Given the description of an element on the screen output the (x, y) to click on. 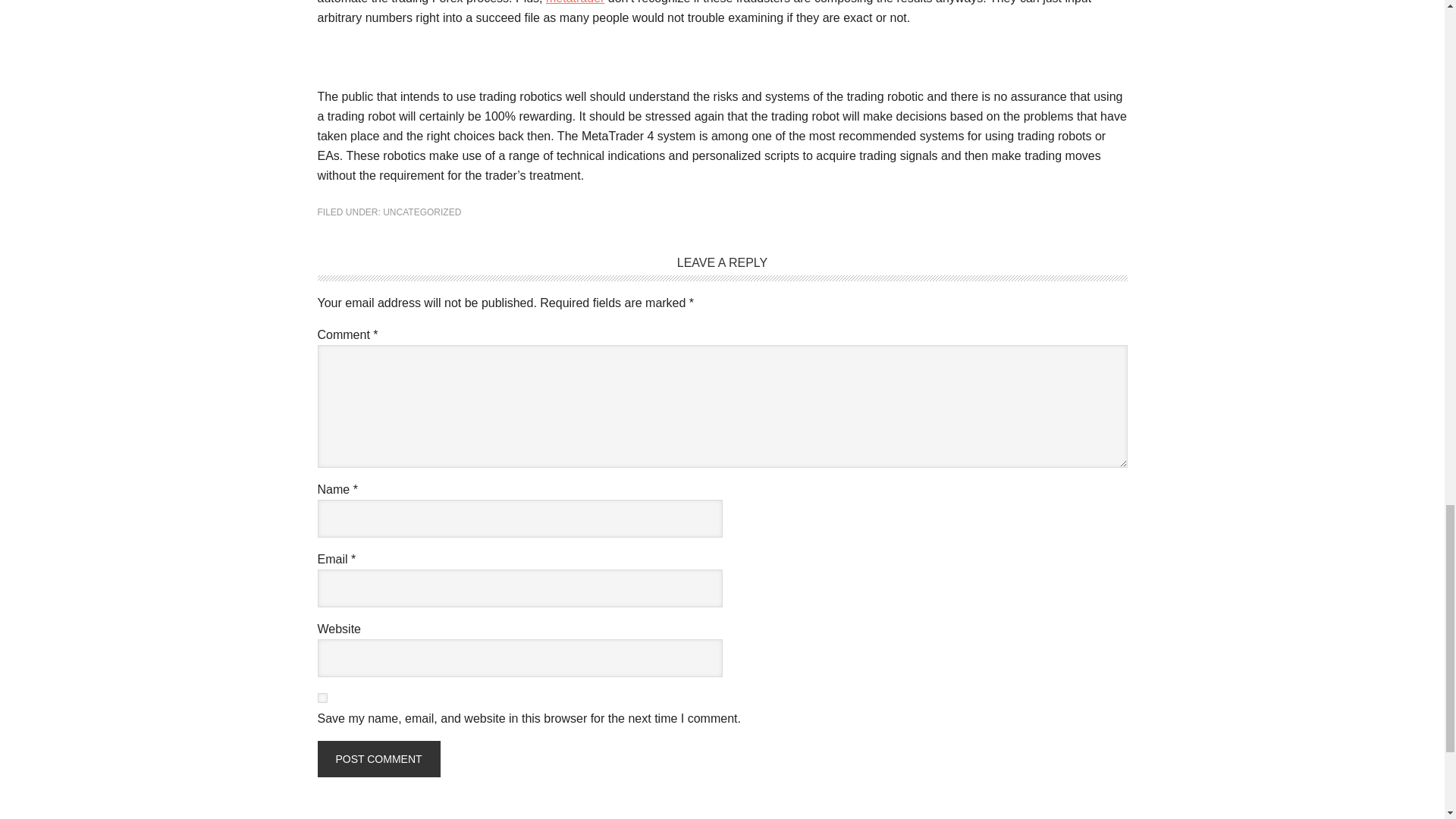
UNCATEGORIZED (421, 212)
metatrader (575, 2)
yes (321, 697)
Post Comment (378, 759)
Post Comment (378, 759)
